Given the description of an element on the screen output the (x, y) to click on. 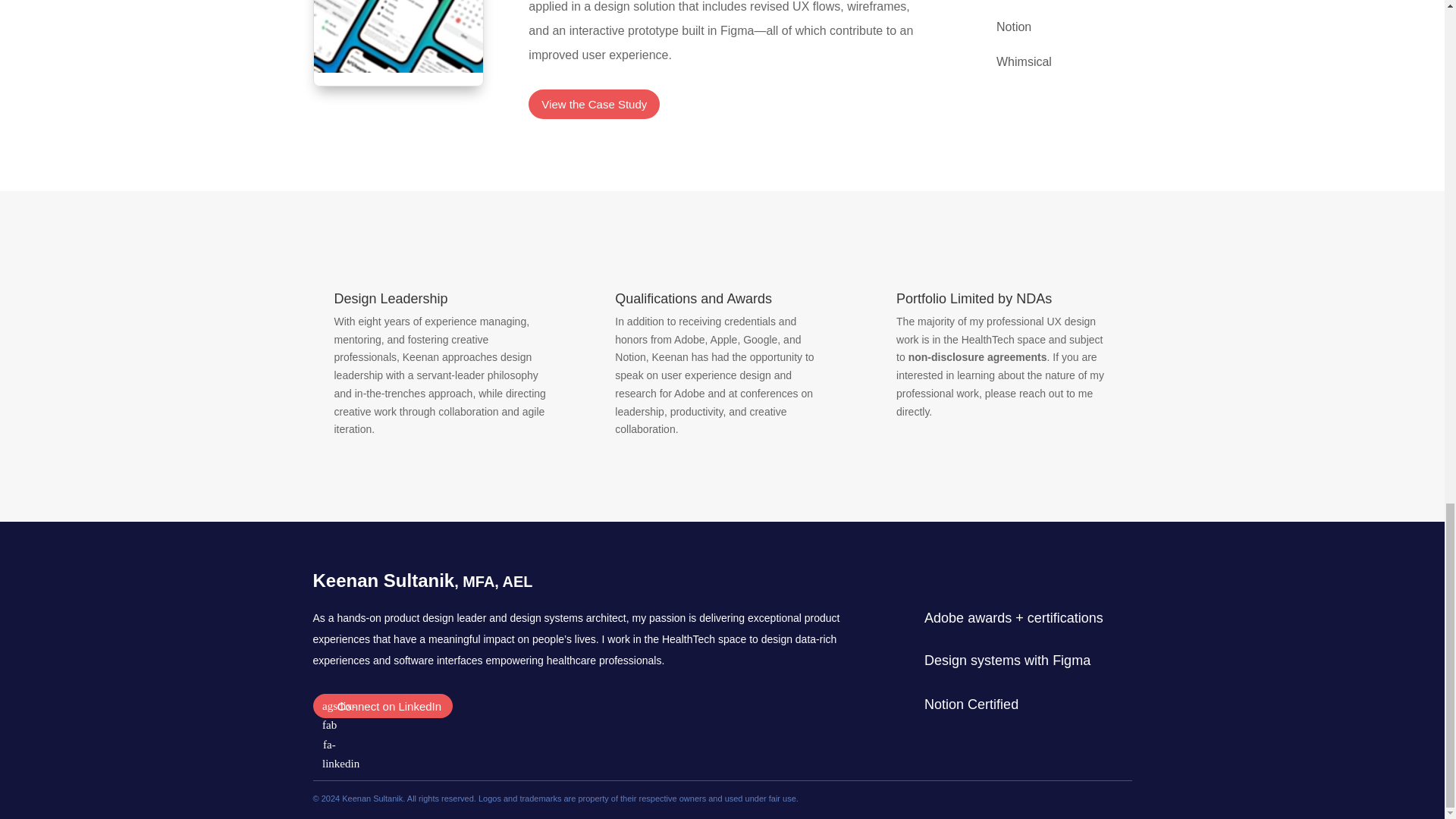
hero2 (398, 42)
View the Case Study (593, 103)
Connect on LinkedIn (382, 706)
